Given the description of an element on the screen output the (x, y) to click on. 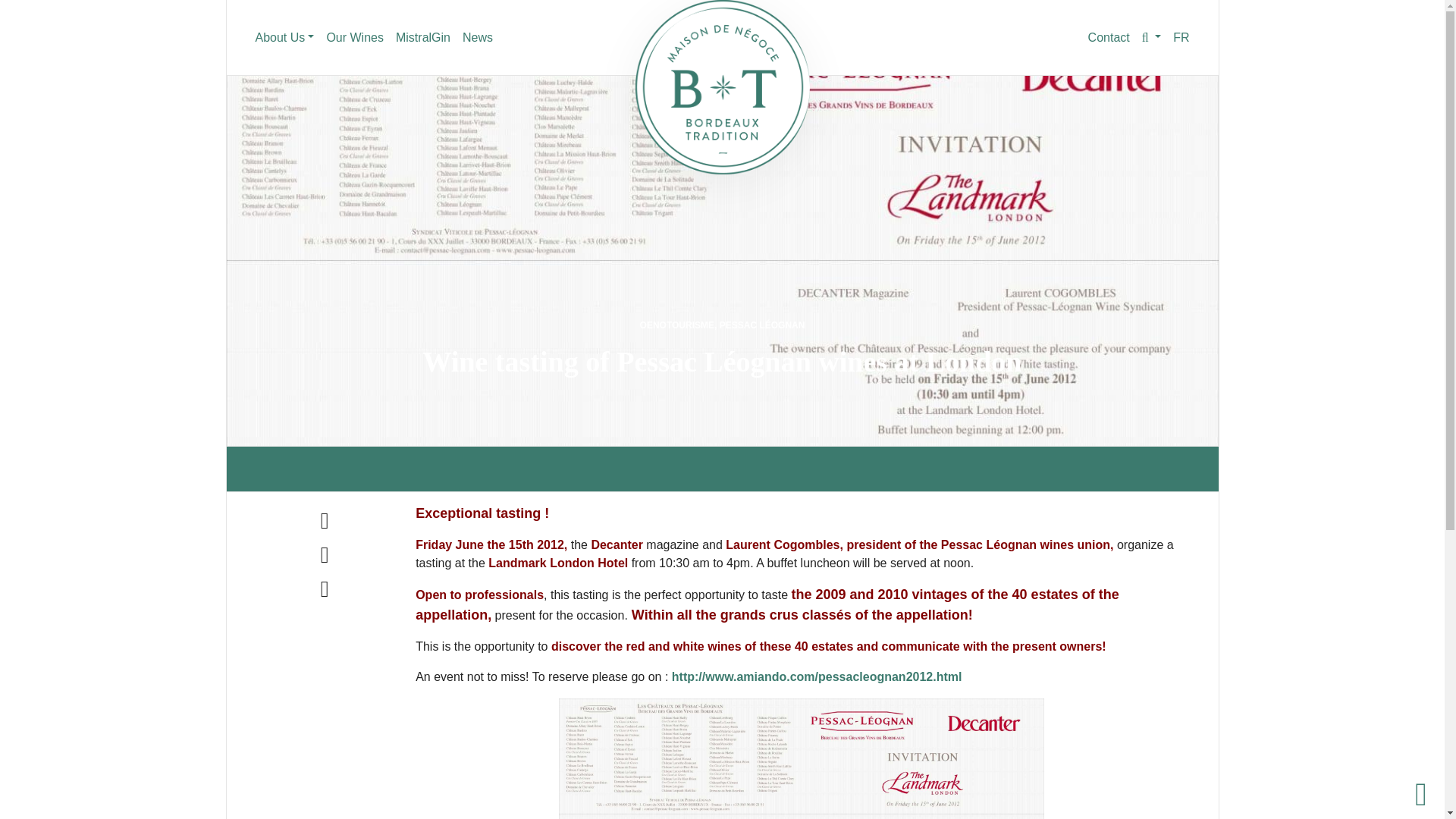
Contact (1108, 37)
BACK TO TOP (1421, 794)
FR (1181, 37)
About Us (284, 37)
OENOTOURISME (677, 325)
Our Wines (355, 37)
Invitation Tasting Pessac-Leognan (801, 758)
MistralGin (423, 37)
News (478, 37)
